Given the description of an element on the screen output the (x, y) to click on. 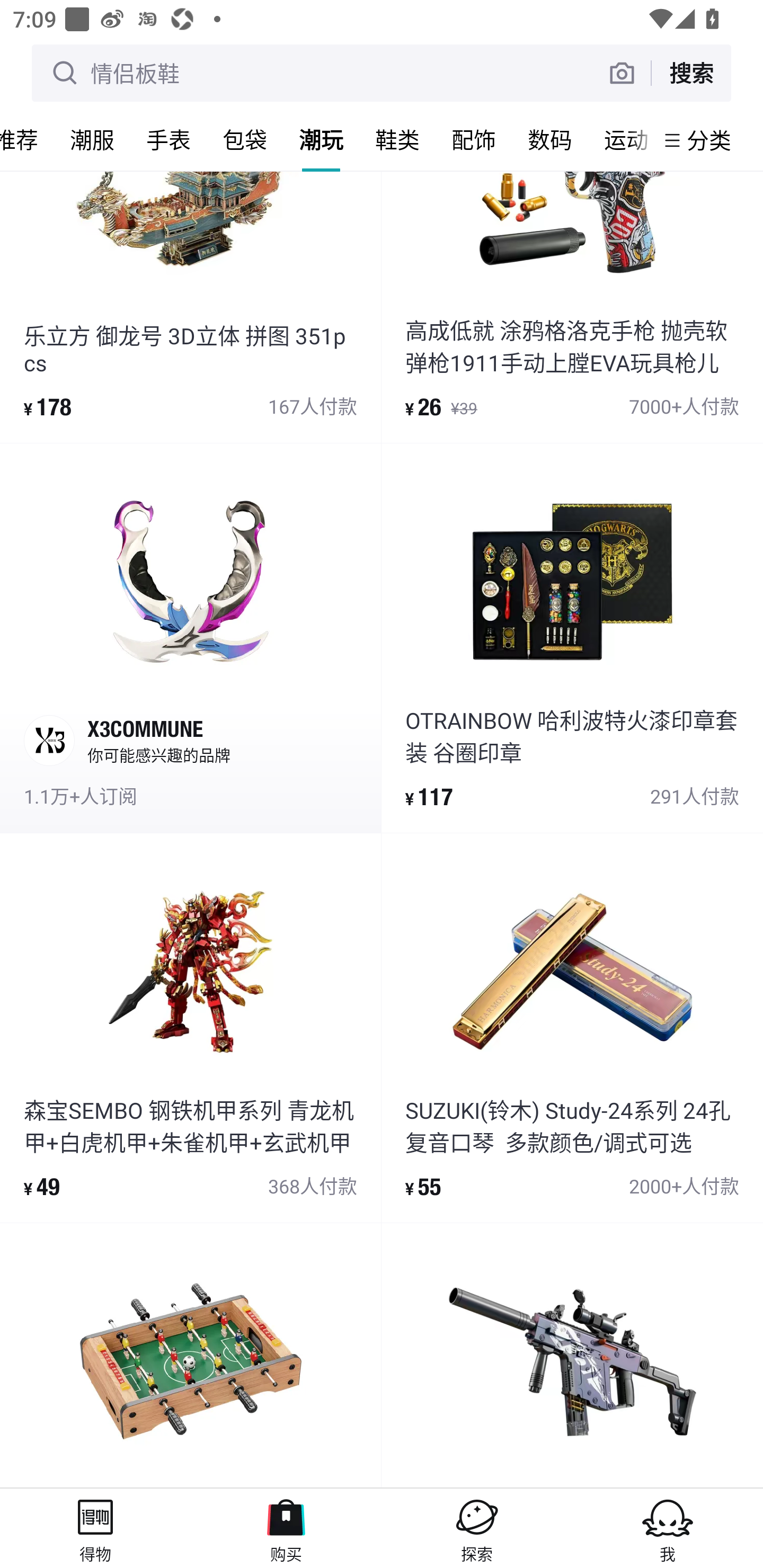
搜索 (690, 72)
潮服 (92, 139)
手表 (168, 139)
包袋 (244, 139)
潮玩 (321, 139)
鞋类 (397, 139)
配饰 (473, 139)
数码 (549, 139)
运动 (621, 139)
分类 (708, 139)
product_item 乐立方 御龙号 3D立体 拼图 351p
cs ¥ 178 167人付款 (190, 306)
X3COMMUNE 你可能感兴趣的品牌 1.1万+人订阅 (190, 637)
product_item 乐能 F 软弹枪 维克托电动连发玩
具枪 短剑冲锋枪 手自一体 枪型玩
具 (572, 1355)
得物 (95, 1528)
购买 (285, 1528)
探索 (476, 1528)
我 (667, 1528)
